Given the description of an element on the screen output the (x, y) to click on. 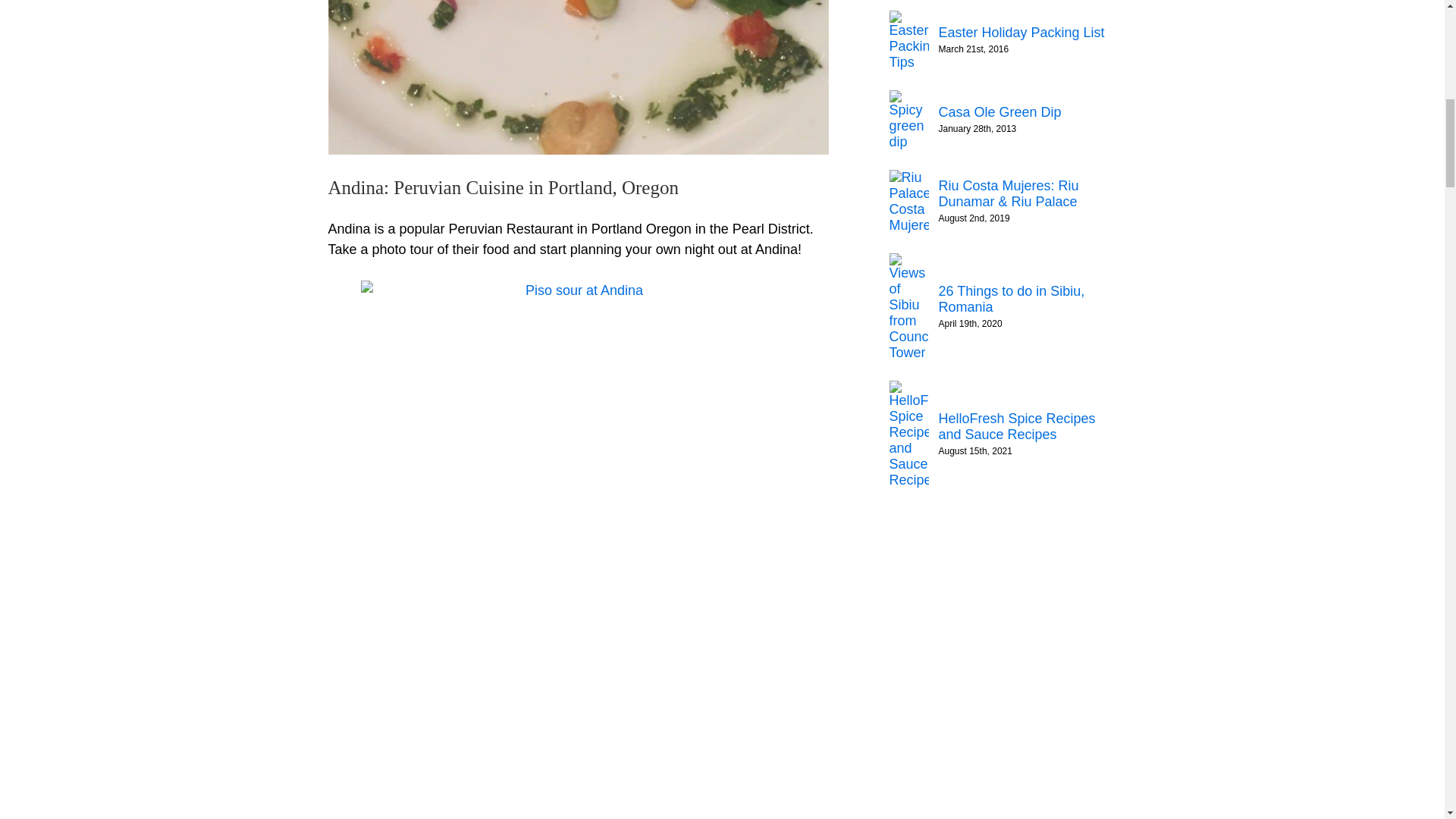
Andina: Peruvian Cuisine in Portland, Oregon 1 (577, 77)
